Given the description of an element on the screen output the (x, y) to click on. 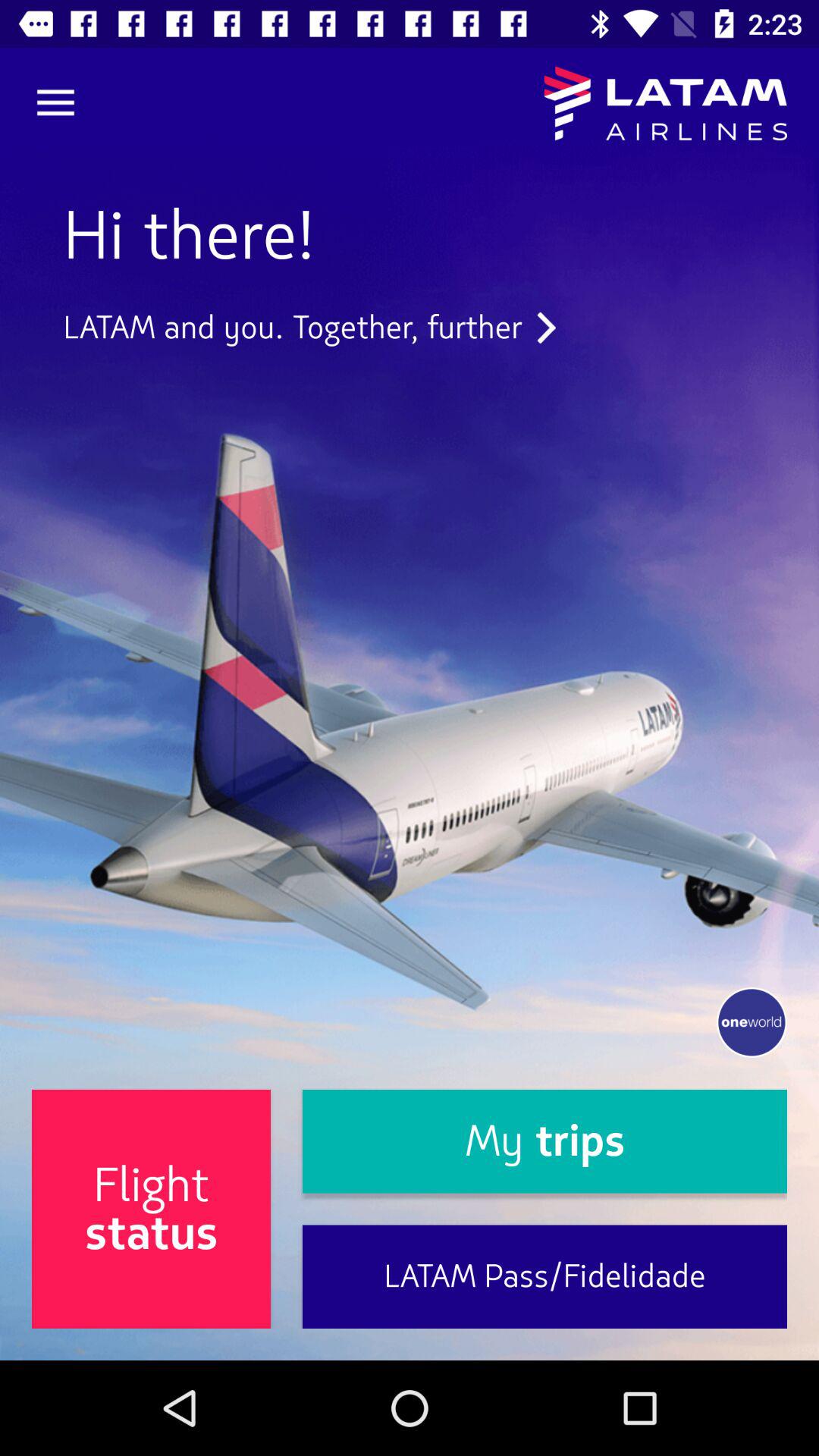
jump to the my trips icon (544, 1141)
